Given the description of an element on the screen output the (x, y) to click on. 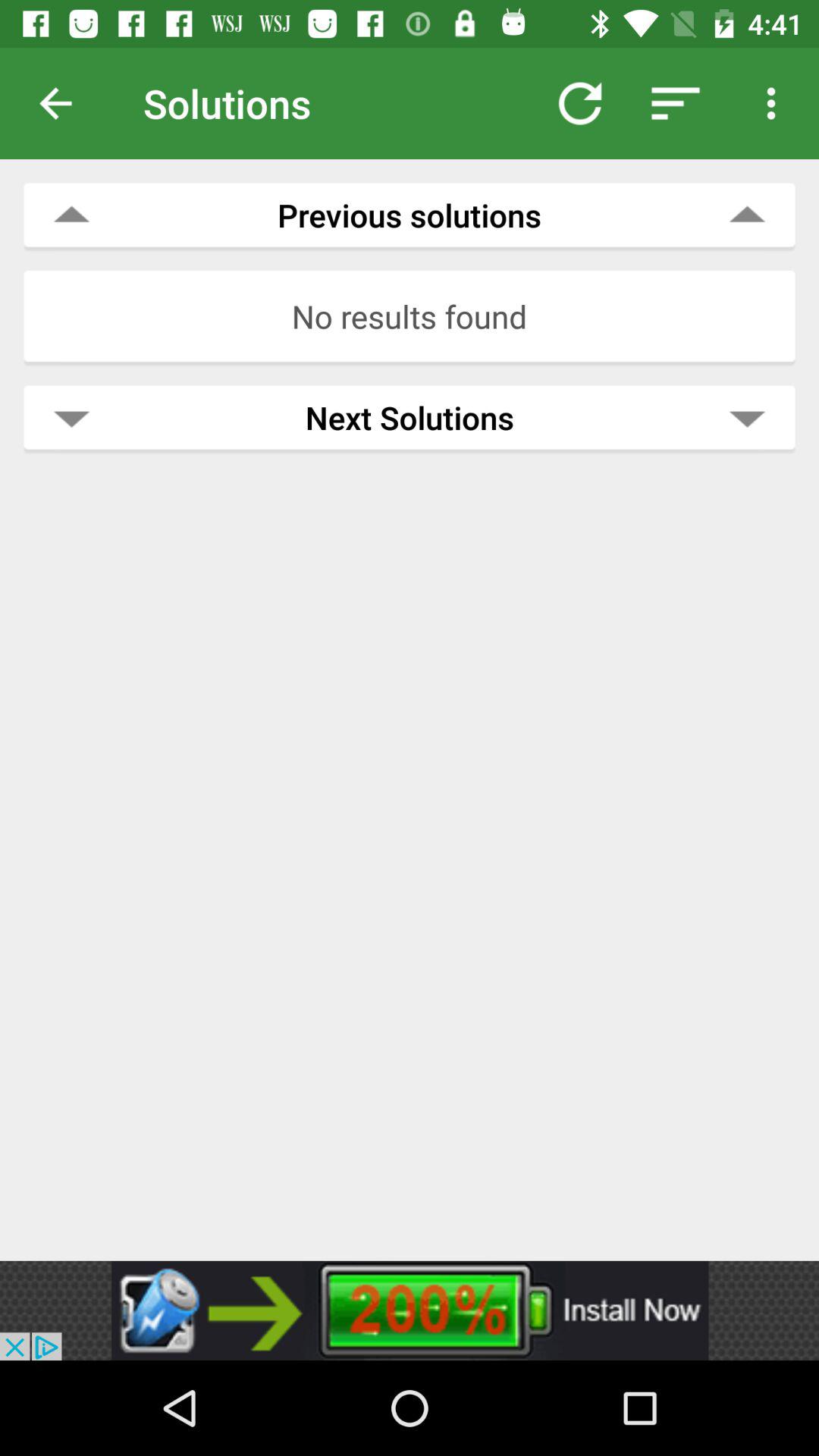
advertisement button (409, 1310)
